Given the description of an element on the screen output the (x, y) to click on. 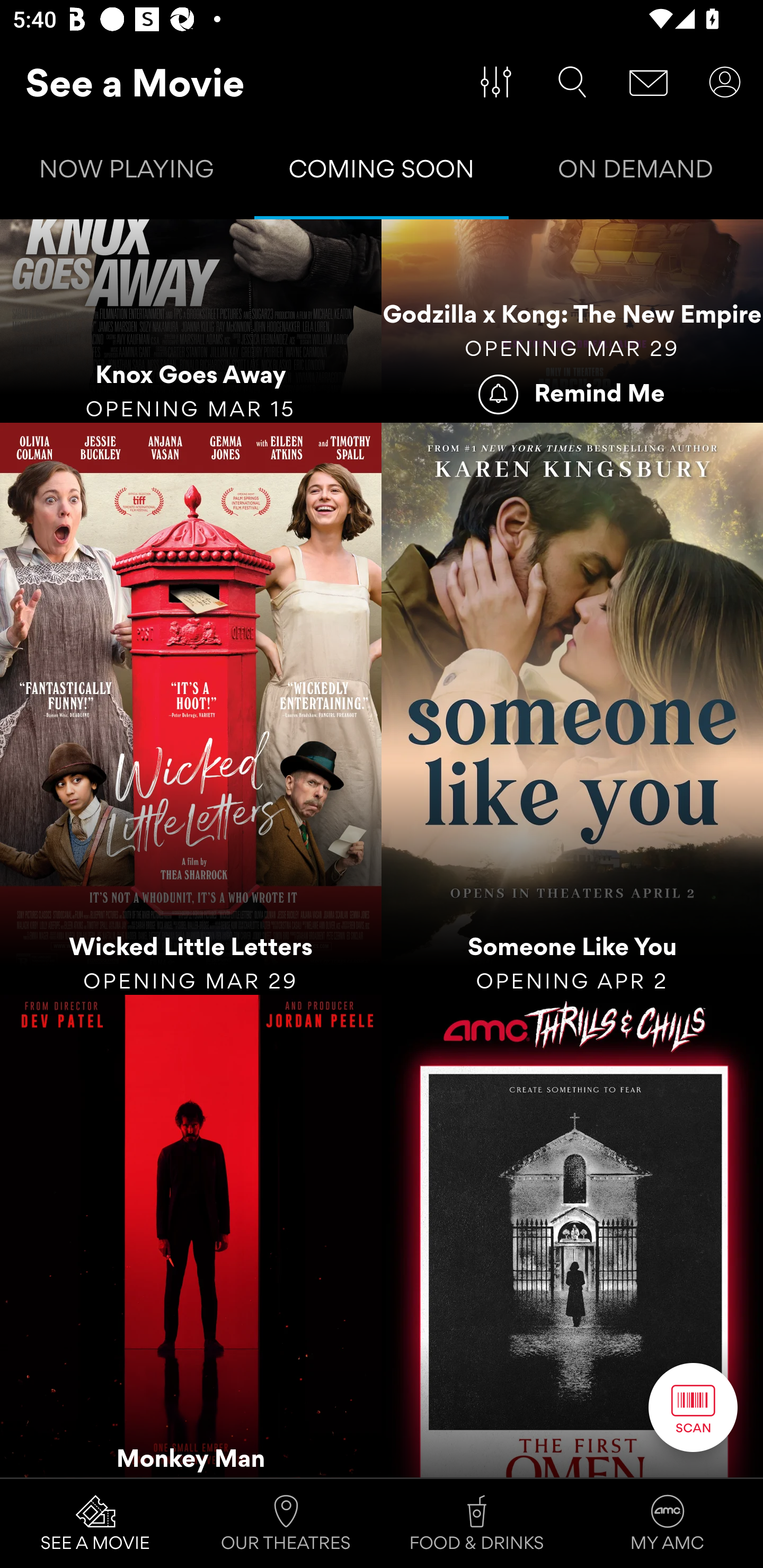
Filter Movies (495, 82)
Search (572, 82)
Message Center (648, 82)
User Account (724, 82)
NOW PLAYING
Tab 1 of 3 (127, 173)
COMING SOON
Tab 2 of 3 (381, 173)
ON DEMAND
Tab 3 of 3 (635, 173)
Knox Goes Away
OPENING MAR 15 (190, 321)
Remind Me (572, 392)
Wicked Little Letters
OPENING MAR 29 (190, 708)
Someone Like You
OPENING APR 2 (572, 708)
Monkey Man
OPENING APR 5 (190, 1235)
The First Omen
OPENING APR 5 (572, 1235)
Scan Button (692, 1406)
SEE A MOVIE
Tab 1 of 4 (95, 1523)
OUR THEATRES
Tab 2 of 4 (285, 1523)
FOOD & DRINKS
Tab 3 of 4 (476, 1523)
MY AMC
Tab 4 of 4 (667, 1523)
